Given the description of an element on the screen output the (x, y) to click on. 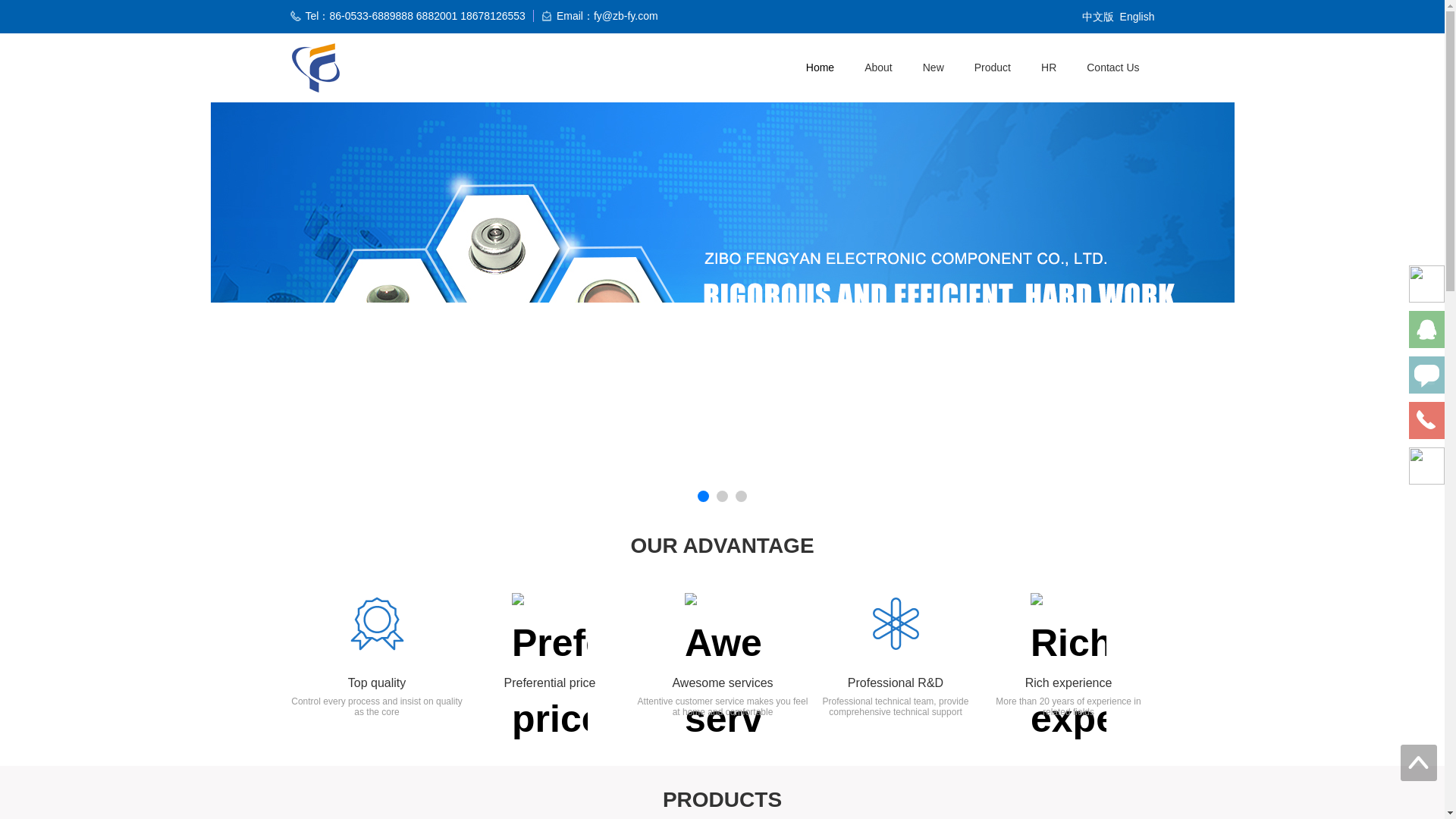
Product (1058, 67)
Contact Us (1122, 67)
English (1136, 16)
Top (1418, 762)
